Given the description of an element on the screen output the (x, y) to click on. 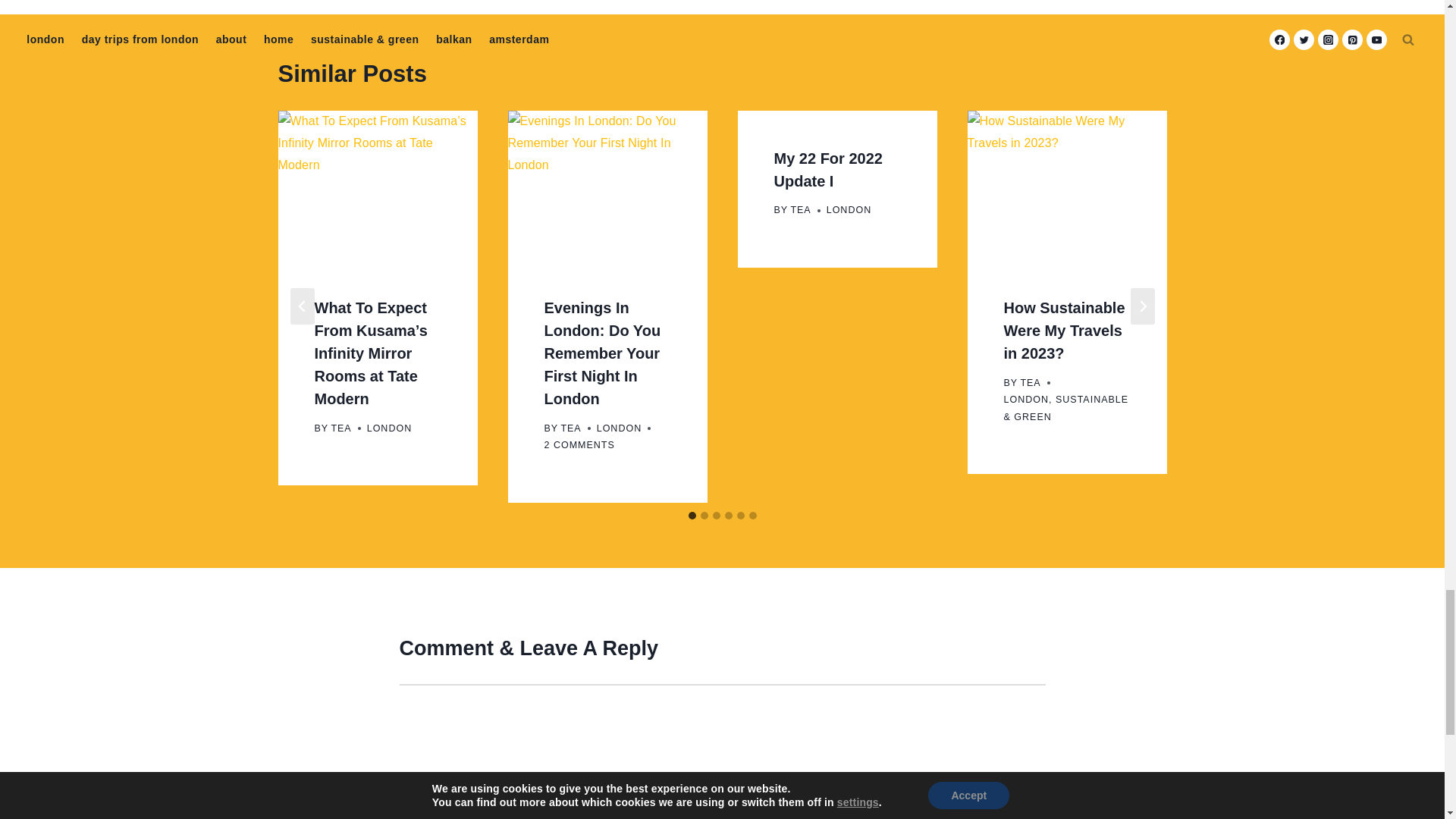
TEA (340, 428)
LONDON (848, 209)
2 COMMENTS (579, 445)
TEA (570, 428)
LONDON (619, 428)
LONDON (389, 428)
TEA (800, 209)
My 22 For 2022 Update I (827, 169)
2 COMMENTS (579, 445)
Comment Form (721, 751)
